Given the description of an element on the screen output the (x, y) to click on. 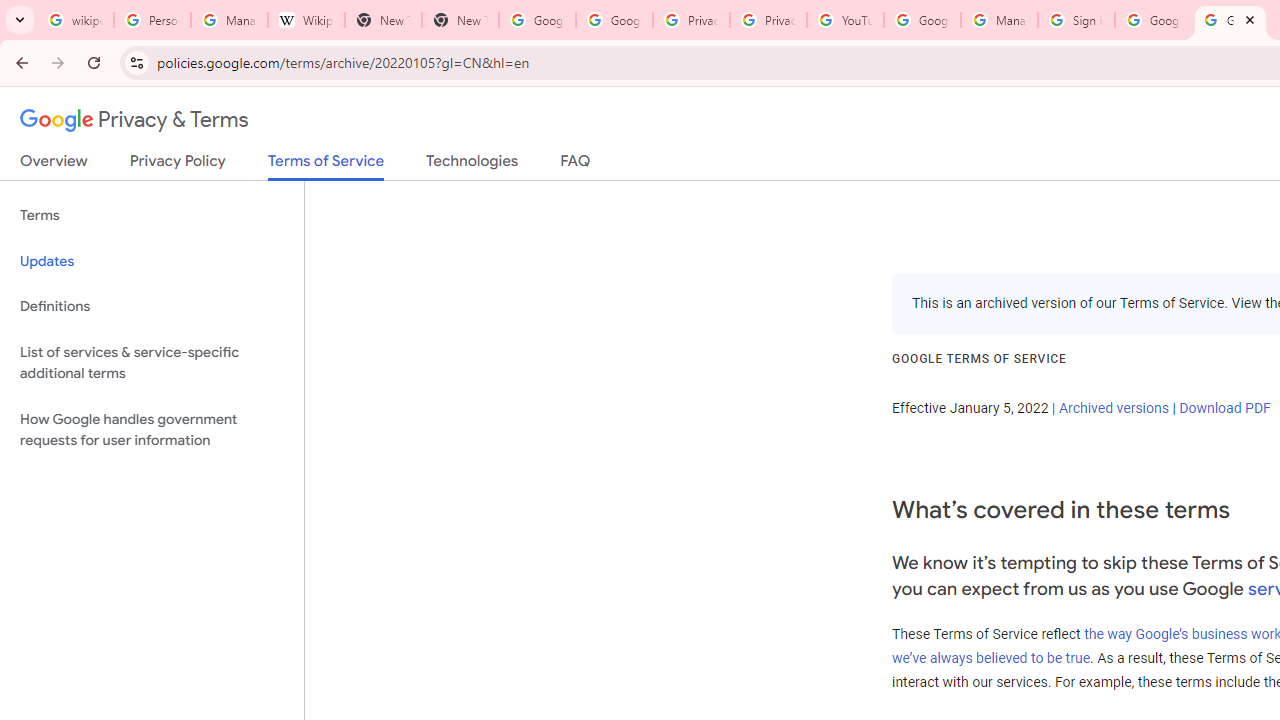
Sign in - Google Accounts (1076, 20)
Google Drive: Sign-in (614, 20)
New Tab (383, 20)
